Given the description of an element on the screen output the (x, y) to click on. 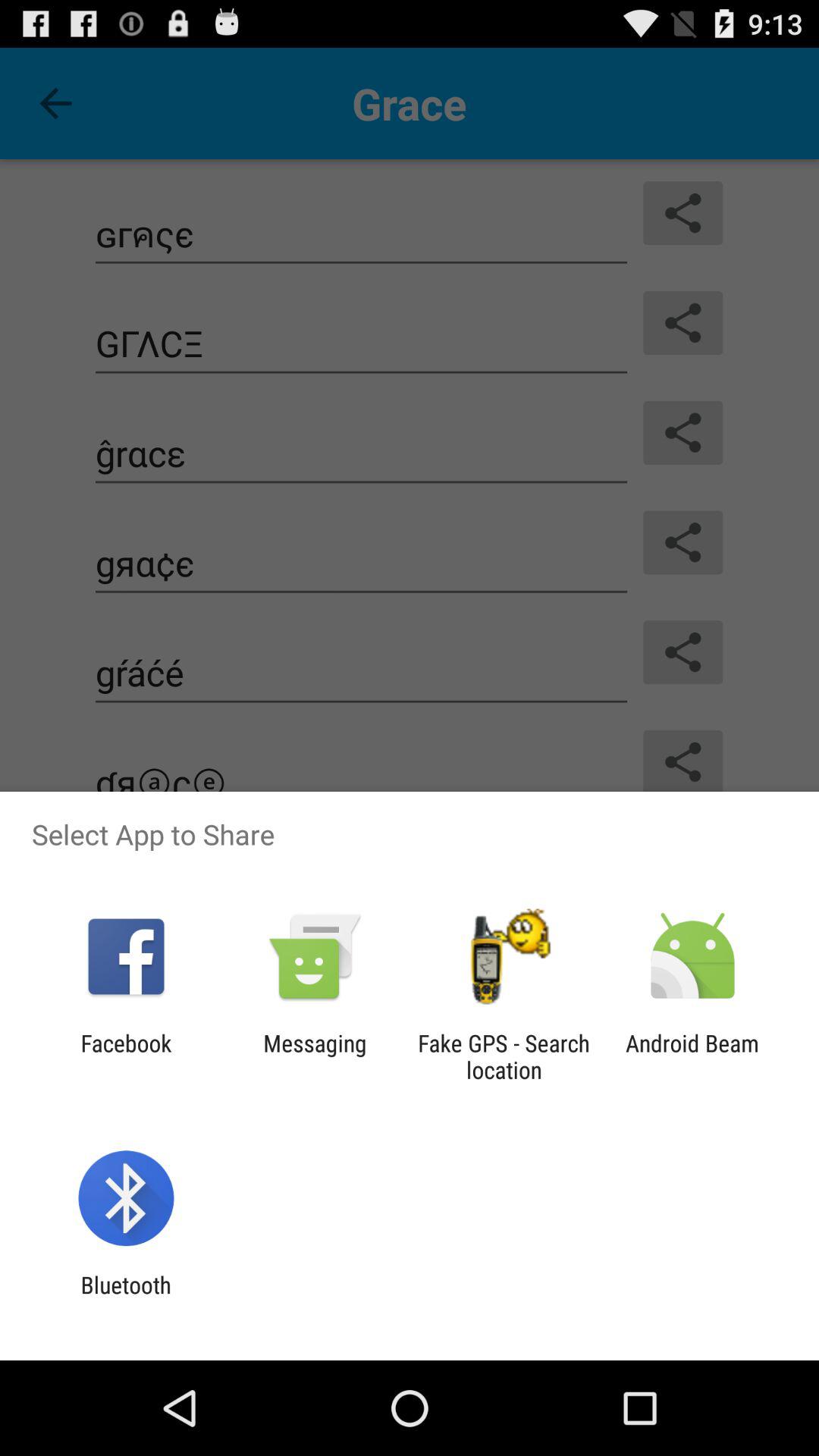
scroll until android beam app (692, 1056)
